Given the description of an element on the screen output the (x, y) to click on. 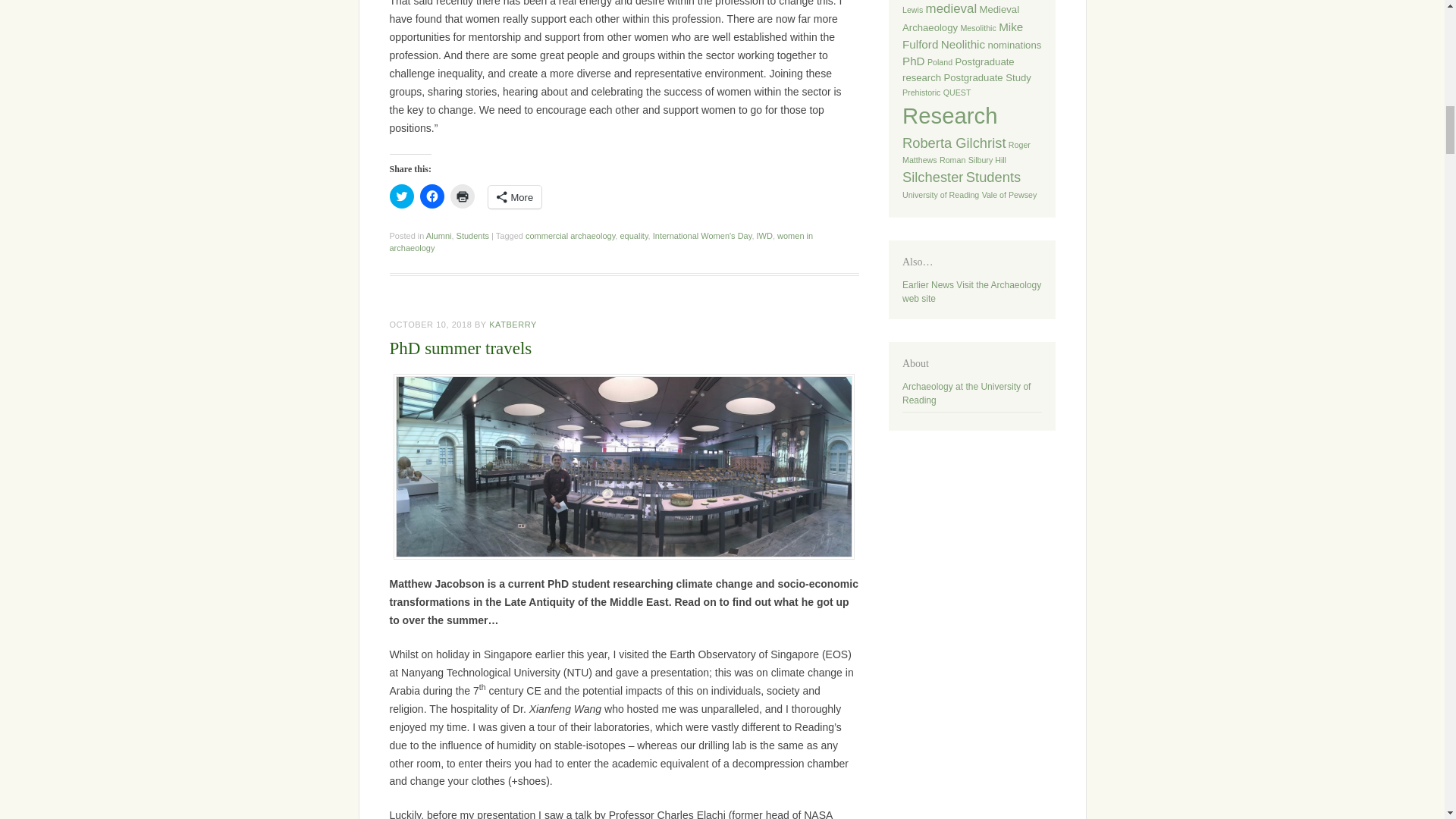
women in archaeology (601, 241)
commercial archaeology (569, 235)
View all posts by katberry (513, 324)
equality (633, 235)
Click to share on Facebook (432, 196)
KATBERRY (513, 324)
PhD summer travels (461, 348)
Click to print (461, 196)
11:00 am (430, 324)
More (514, 196)
Students (473, 235)
IWD (765, 235)
OCTOBER 10, 2018 (430, 324)
Alumni (438, 235)
International Women's Day (702, 235)
